Given the description of an element on the screen output the (x, y) to click on. 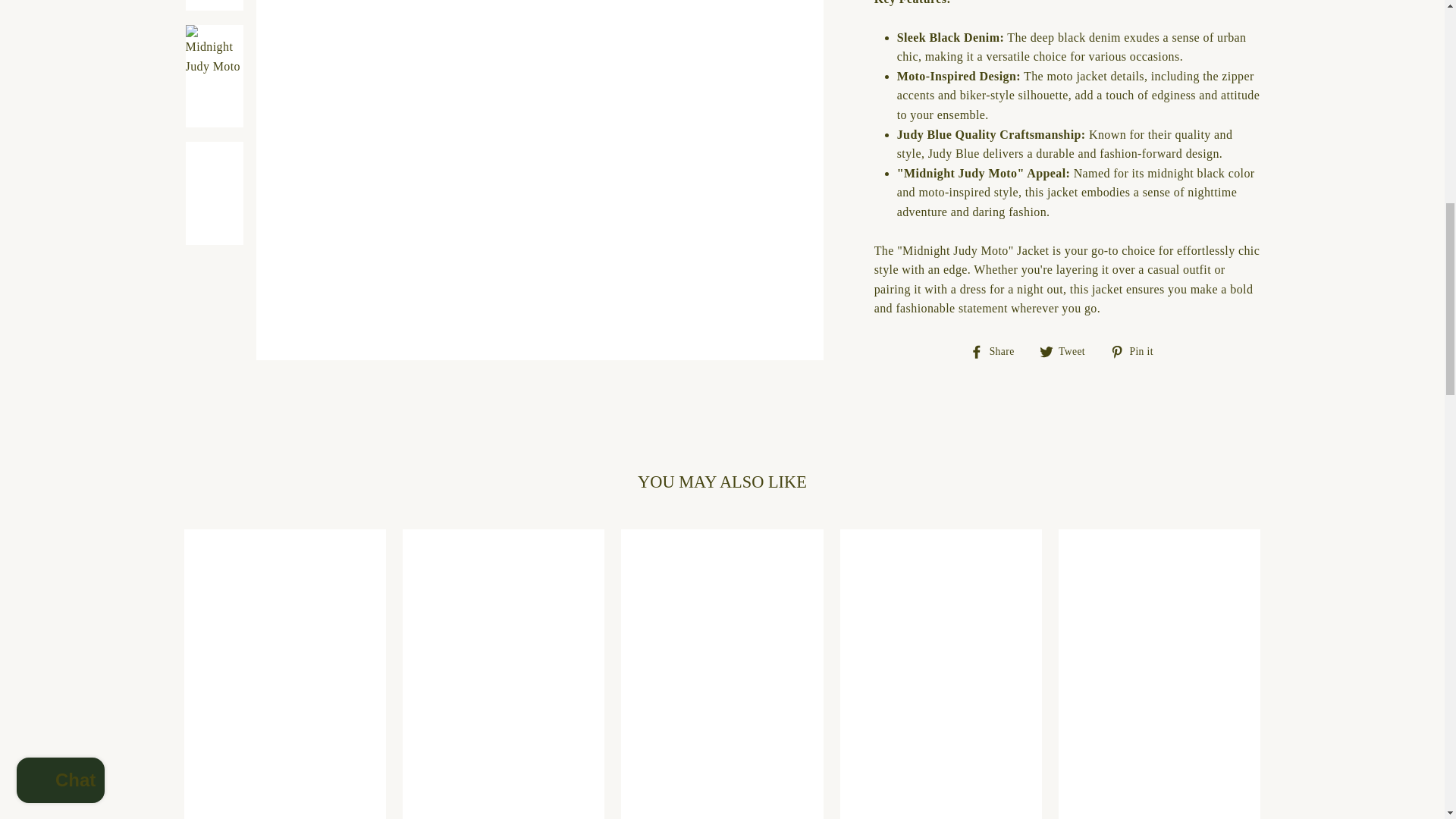
Tweet on Twitter (1067, 351)
Share on Facebook (997, 351)
Pin on Pinterest (1136, 351)
